Given the description of an element on the screen output the (x, y) to click on. 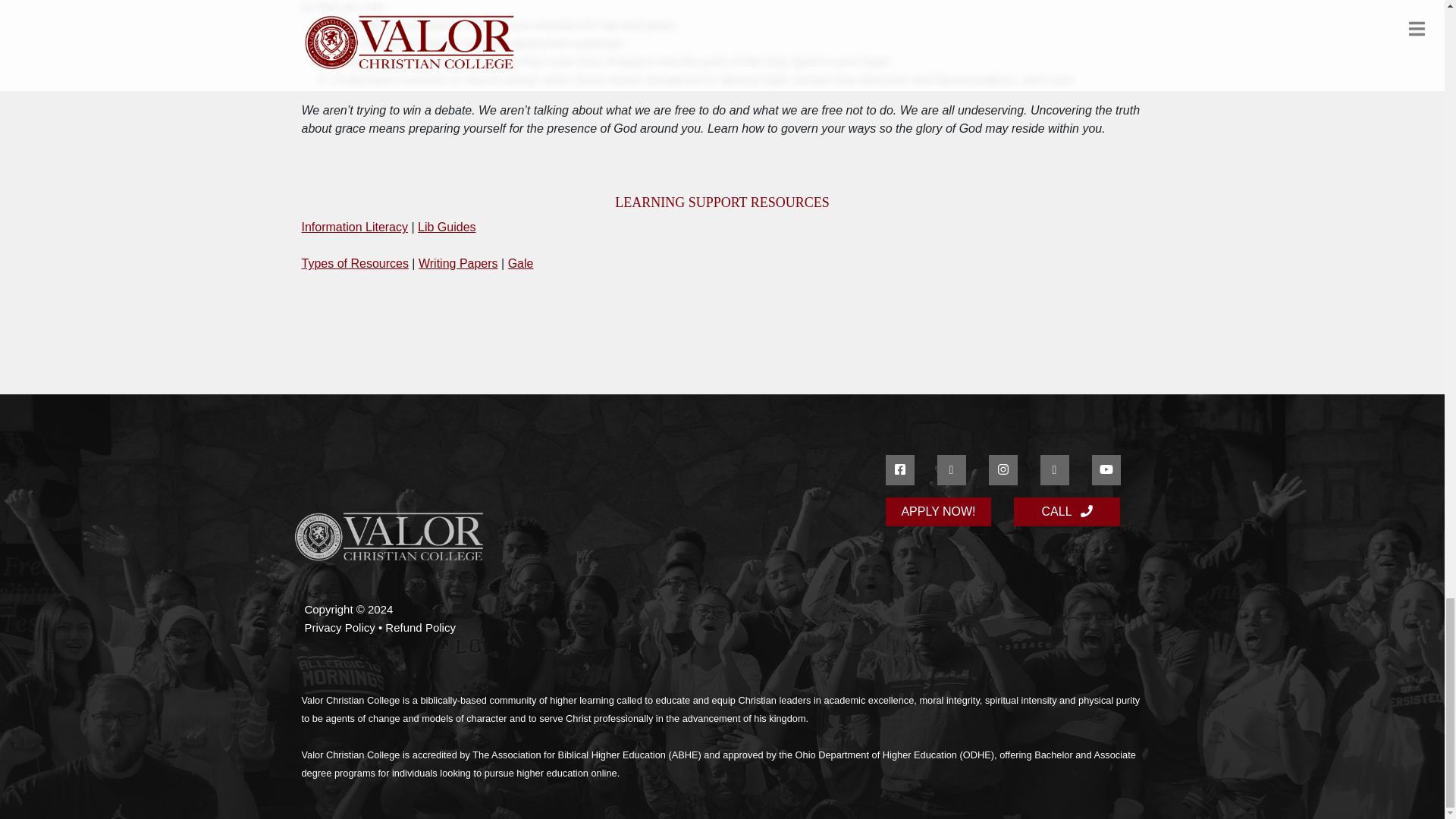
1-800-940-9422 (1066, 511)
